Given the description of an element on the screen output the (x, y) to click on. 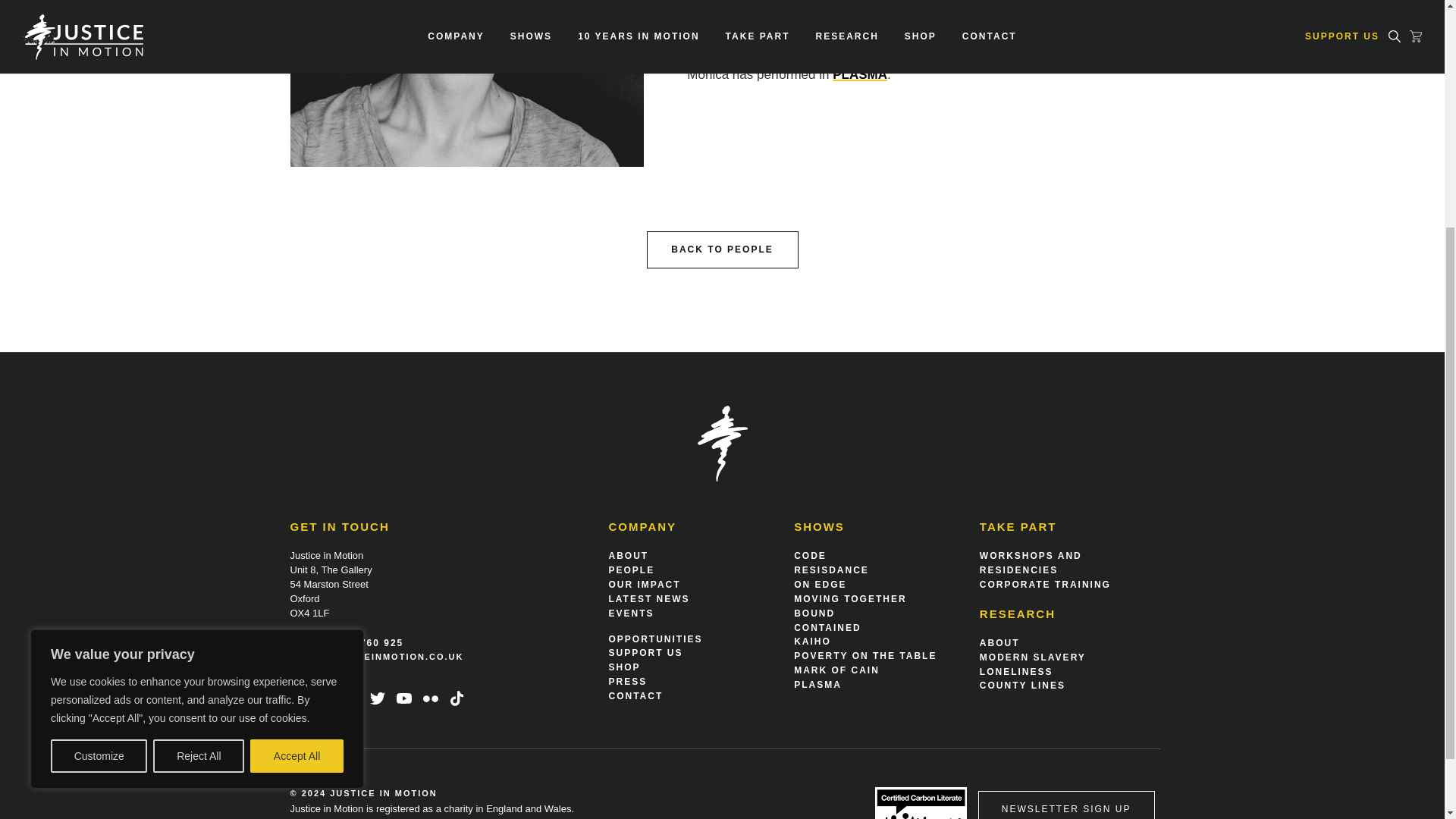
Reject All (198, 422)
Customize (98, 422)
Accept All (296, 422)
